Given the description of an element on the screen output the (x, y) to click on. 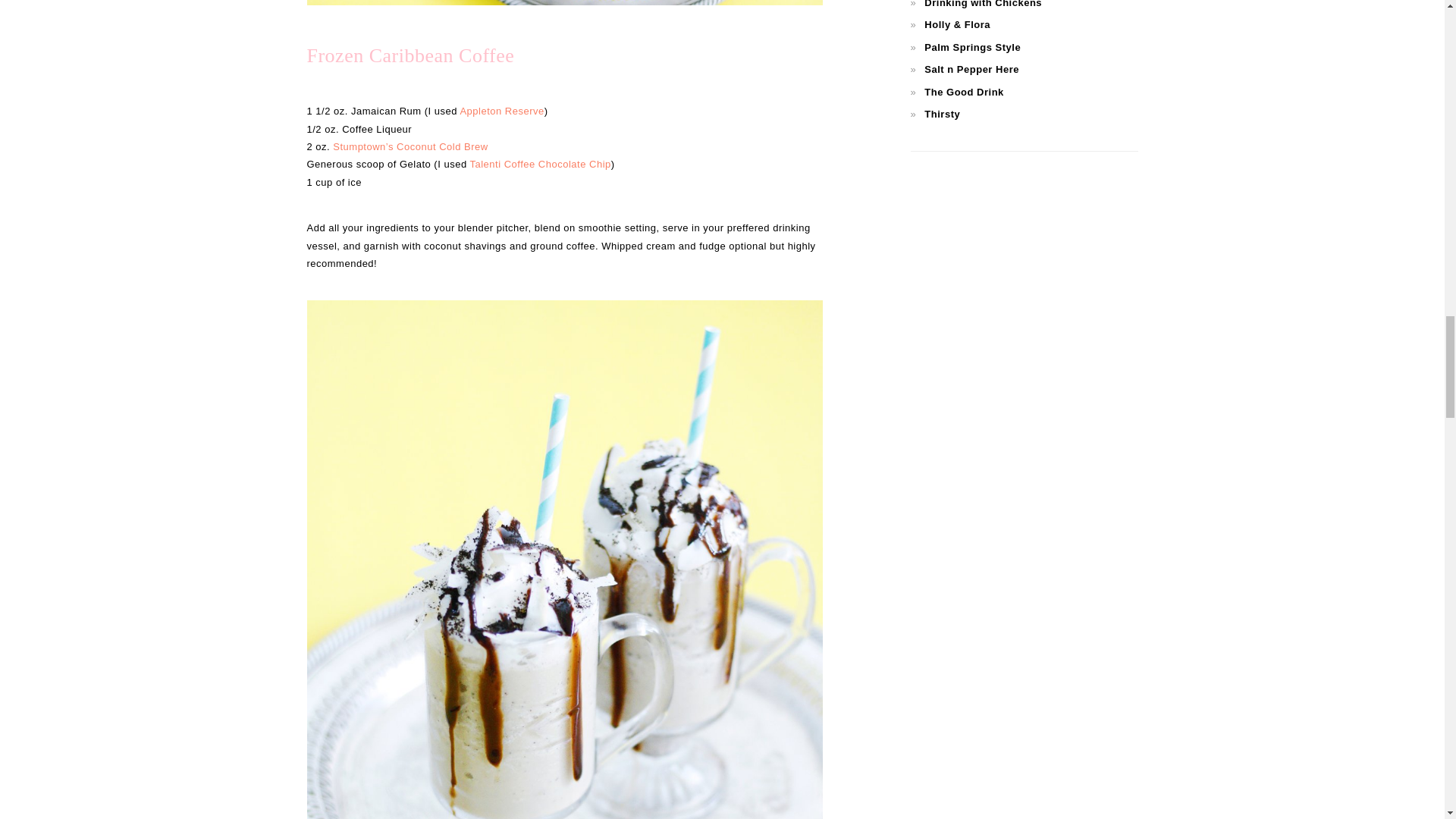
Appleton Reserve (501, 111)
Talenti Coffee Chocolate Chip (540, 163)
